Given the description of an element on the screen output the (x, y) to click on. 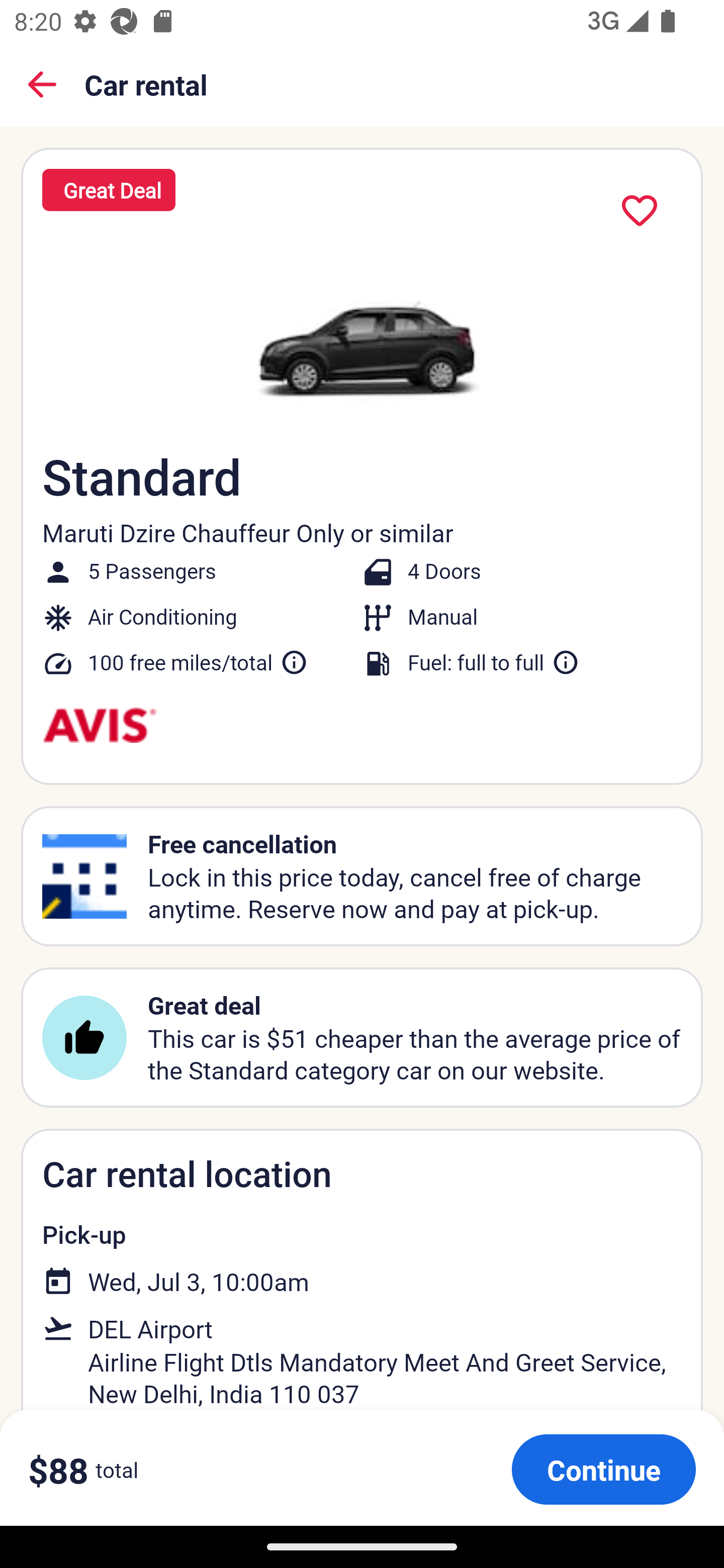
Go back to car rental search results (42, 84)
Save Standard from Avis to a trip (639, 211)
100 free miles/total (198, 662)
Fuel: full to full (493, 662)
Continue (603, 1468)
